Given the description of an element on the screen output the (x, y) to click on. 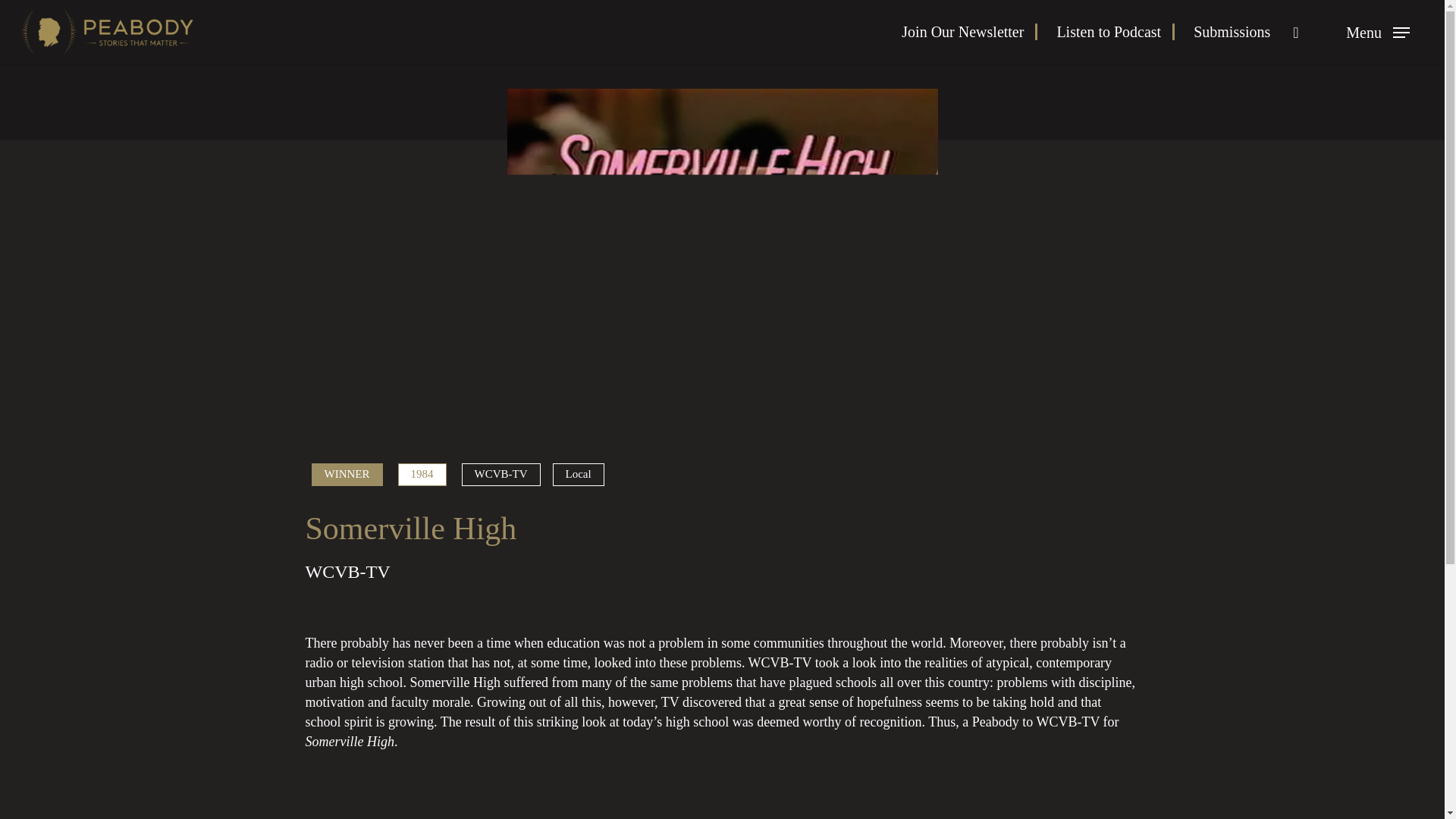
Listen to Podcast (1115, 31)
Menu (1377, 31)
WCVB-TV (500, 474)
Join Our Newsletter (968, 31)
Submissions (1231, 31)
Local (577, 474)
